Given the description of an element on the screen output the (x, y) to click on. 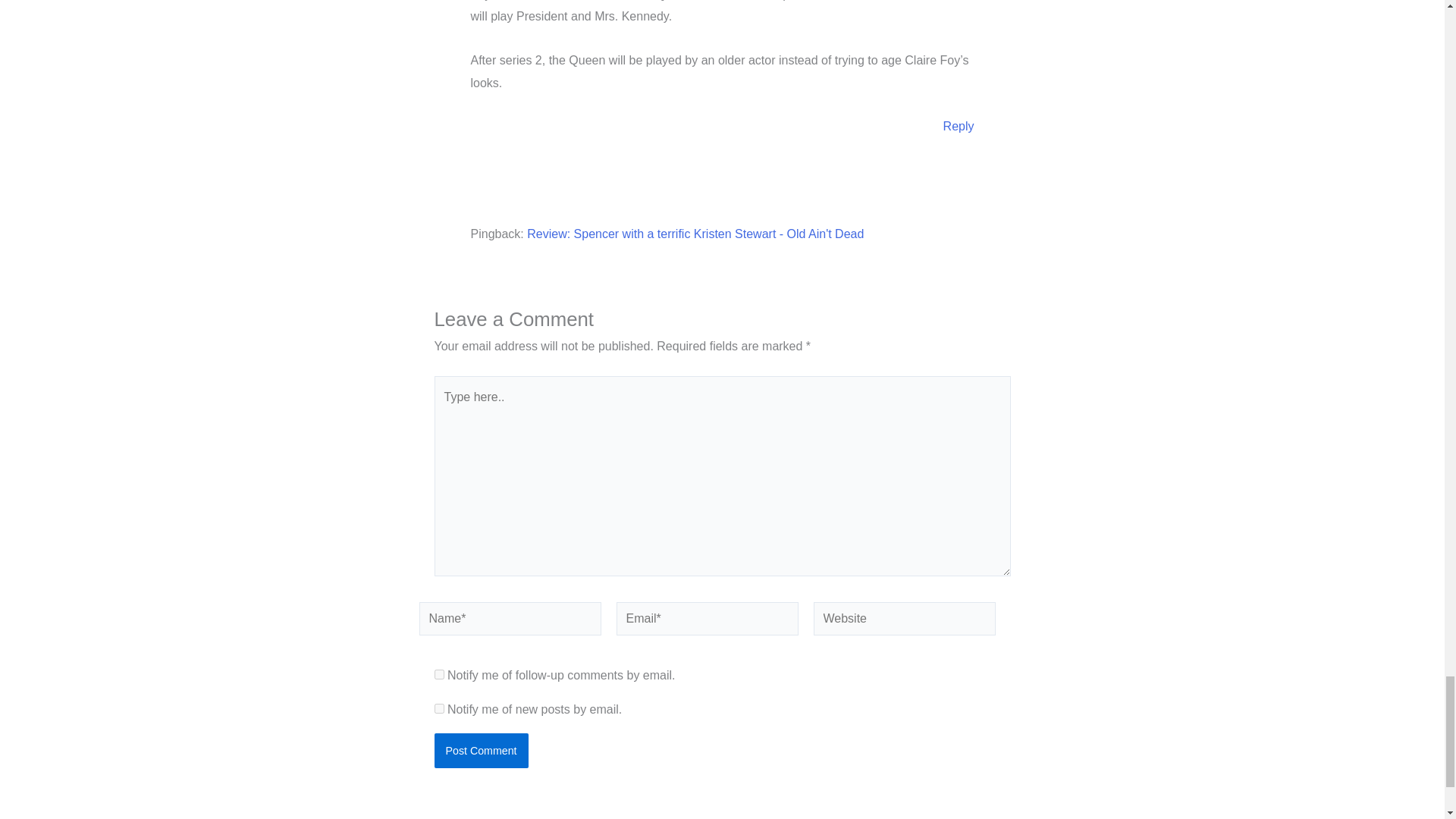
subscribe (438, 674)
subscribe (438, 708)
Post Comment (480, 750)
